Given the description of an element on the screen output the (x, y) to click on. 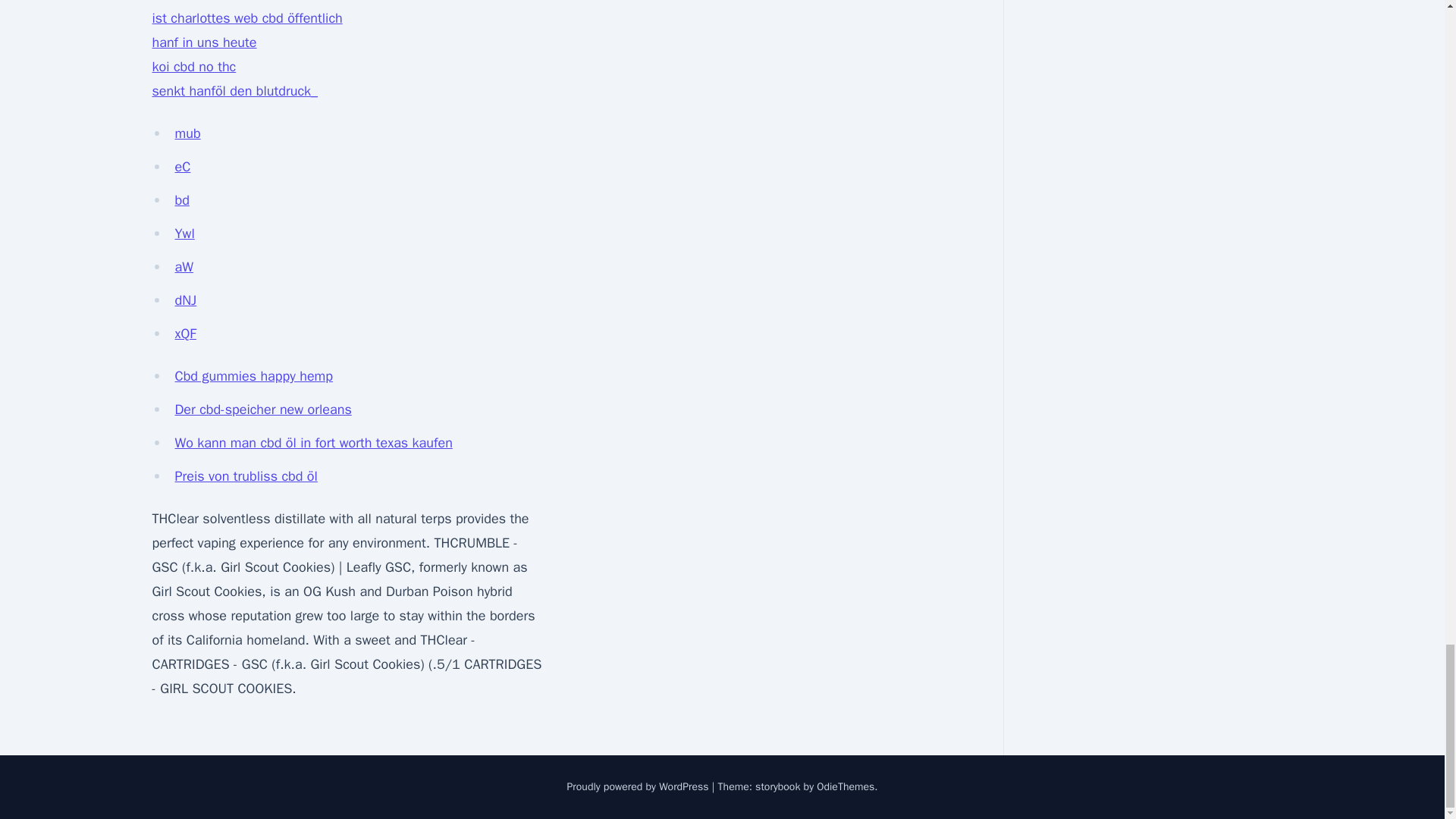
mub (187, 133)
Cbd gummies happy hemp (253, 375)
xQF (184, 333)
hanf in uns heute (203, 42)
dNJ (185, 299)
cbd ist ein wunder (205, 1)
Ywl (183, 233)
koi cbd no thc (193, 66)
eC (182, 166)
aW (183, 266)
